Given the description of an element on the screen output the (x, y) to click on. 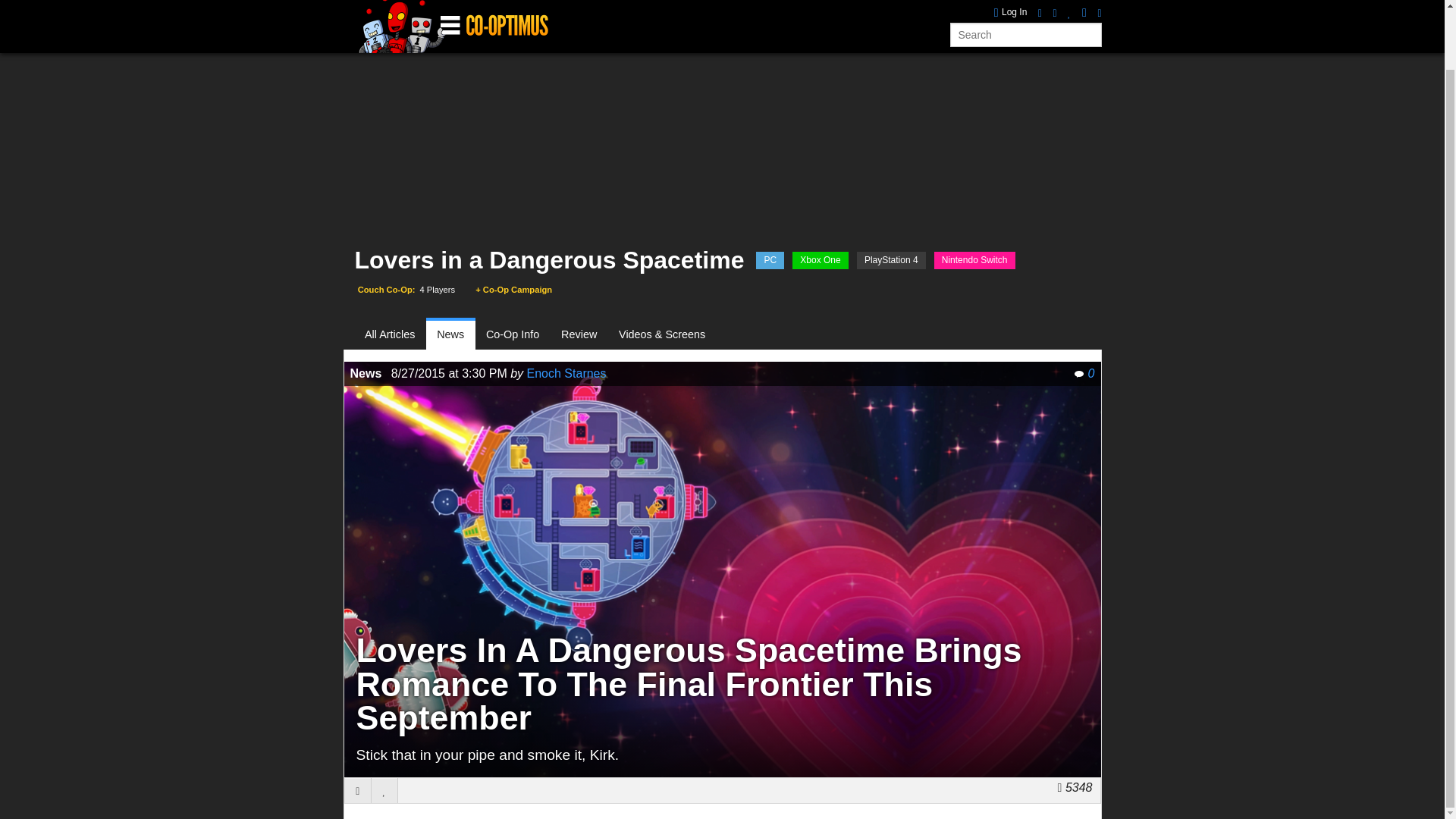
Nintendo Switch (974, 260)
News (451, 334)
All Articles (395, 334)
EDF 6 Co-Op Review (1037, 4)
PC (769, 260)
Weekly Video Streams and VODs from Co-Optimus (659, 6)
Videos (584, 6)
Co-Op Info (513, 334)
PlayStation 4 (891, 260)
Editorials (743, 6)
